Given the description of an element on the screen output the (x, y) to click on. 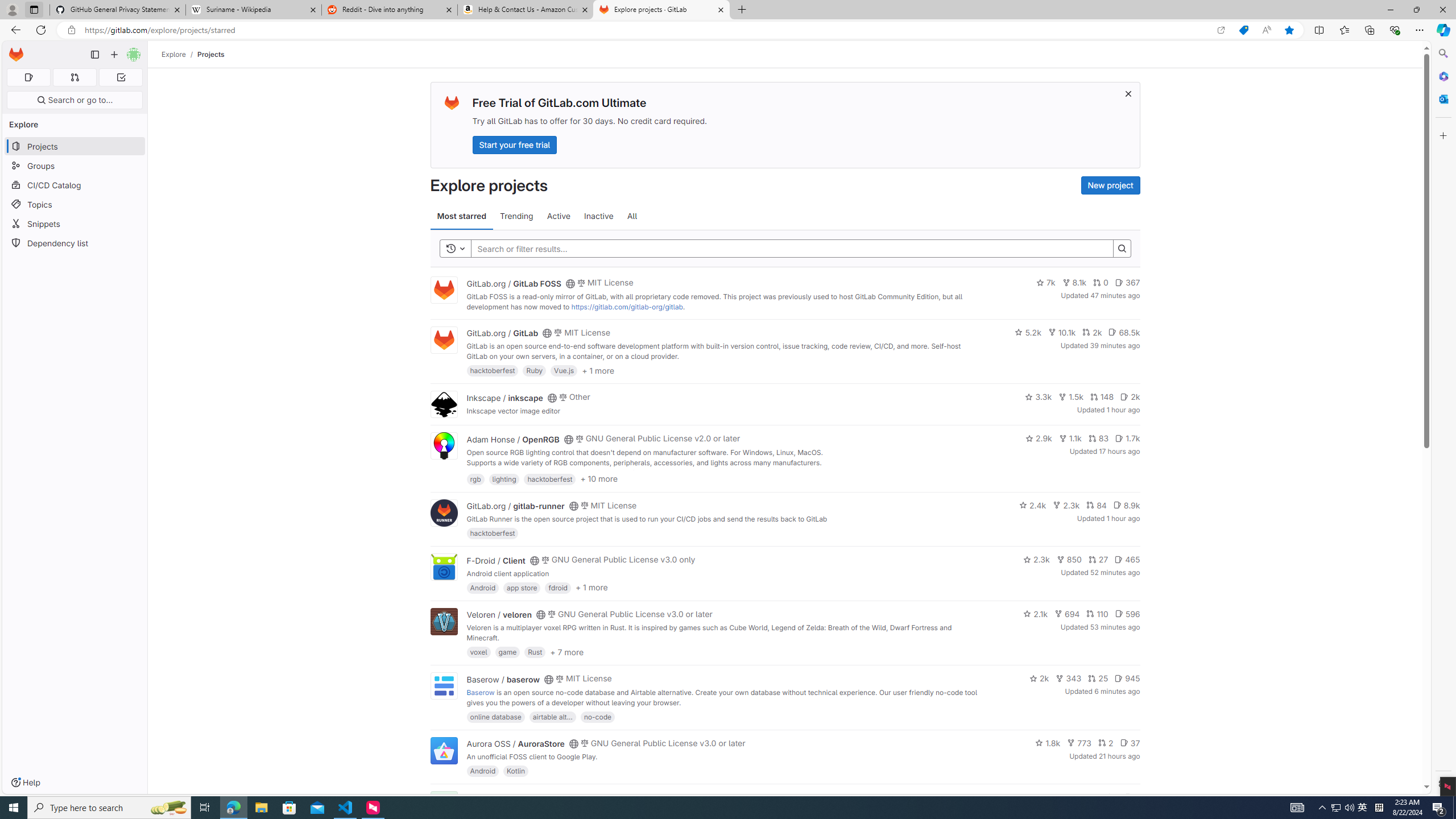
Open in app (1220, 29)
1.5k (1070, 396)
84 (1096, 504)
CI/CD Catalog (74, 185)
25 (1097, 678)
Groups (74, 165)
1 (1111, 797)
Shopping in Microsoft Edge (1243, 29)
2.4k (1032, 504)
Baserow / baserow (502, 678)
